Given the description of an element on the screen output the (x, y) to click on. 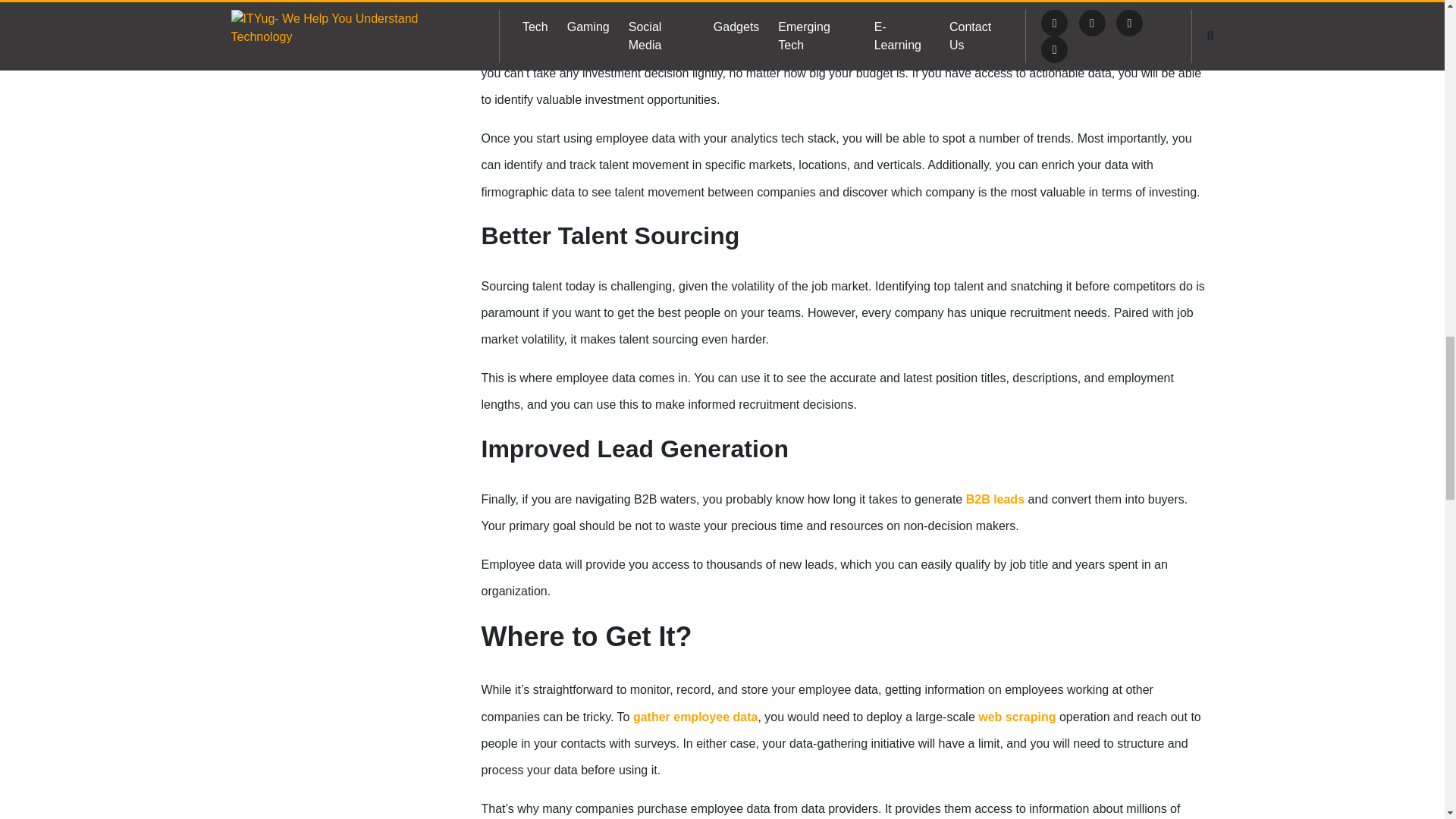
gather employee data (695, 716)
web scraping (1016, 716)
B2B leads (995, 499)
